Given the description of an element on the screen output the (x, y) to click on. 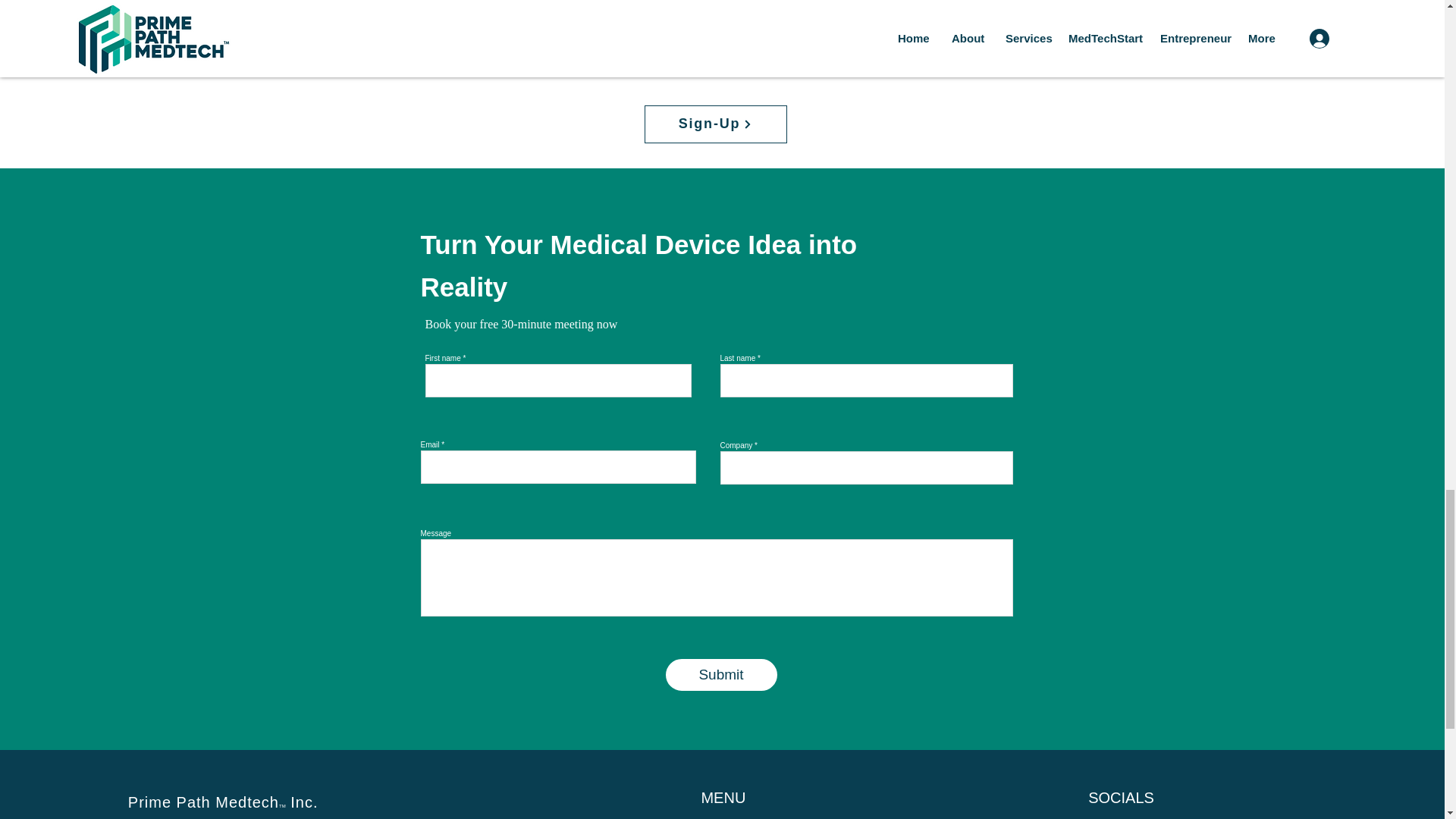
Sign-Up (716, 124)
Promoting Diversity in Clinical Trials (938, 11)
Submit (721, 675)
Prime Path MedtechTM Inc. (223, 801)
W.F.H. - Work From Home (467, 2)
